Given the description of an element on the screen output the (x, y) to click on. 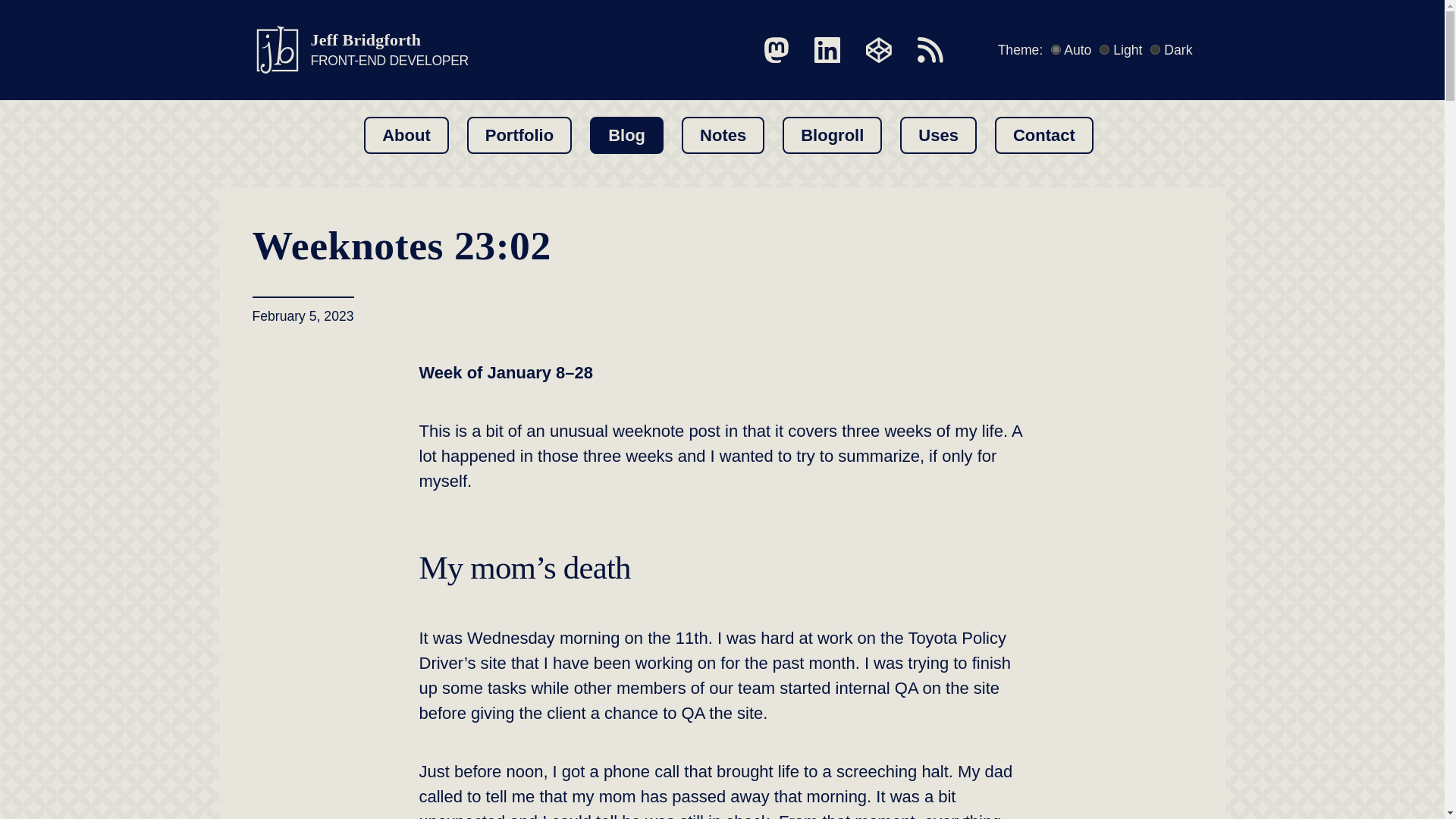
Contact (1043, 135)
About (406, 135)
Mastodon (776, 49)
Blog (626, 135)
dark (1155, 49)
Portfolio (519, 135)
Feed (929, 49)
Notes (359, 50)
auto (722, 135)
